Given the description of an element on the screen output the (x, y) to click on. 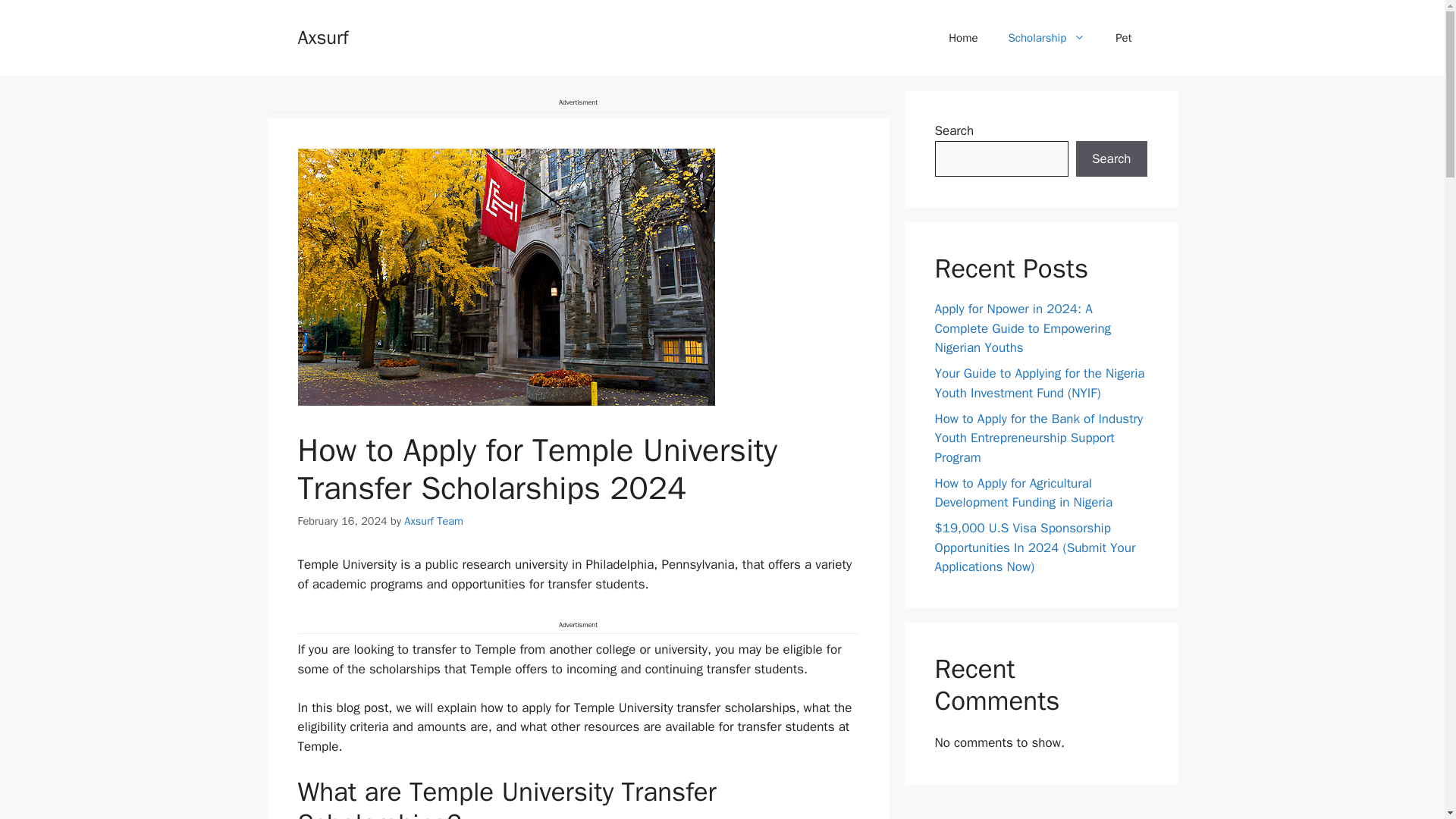
View all posts by Axsurf Team (433, 520)
Axsurf Team (433, 520)
Search (1111, 158)
Home (962, 37)
How to Apply for Agricultural Development Funding in Nigeria (1023, 492)
Pet (1123, 37)
Scholarship (1046, 37)
Axsurf (322, 37)
